Given the description of an element on the screen output the (x, y) to click on. 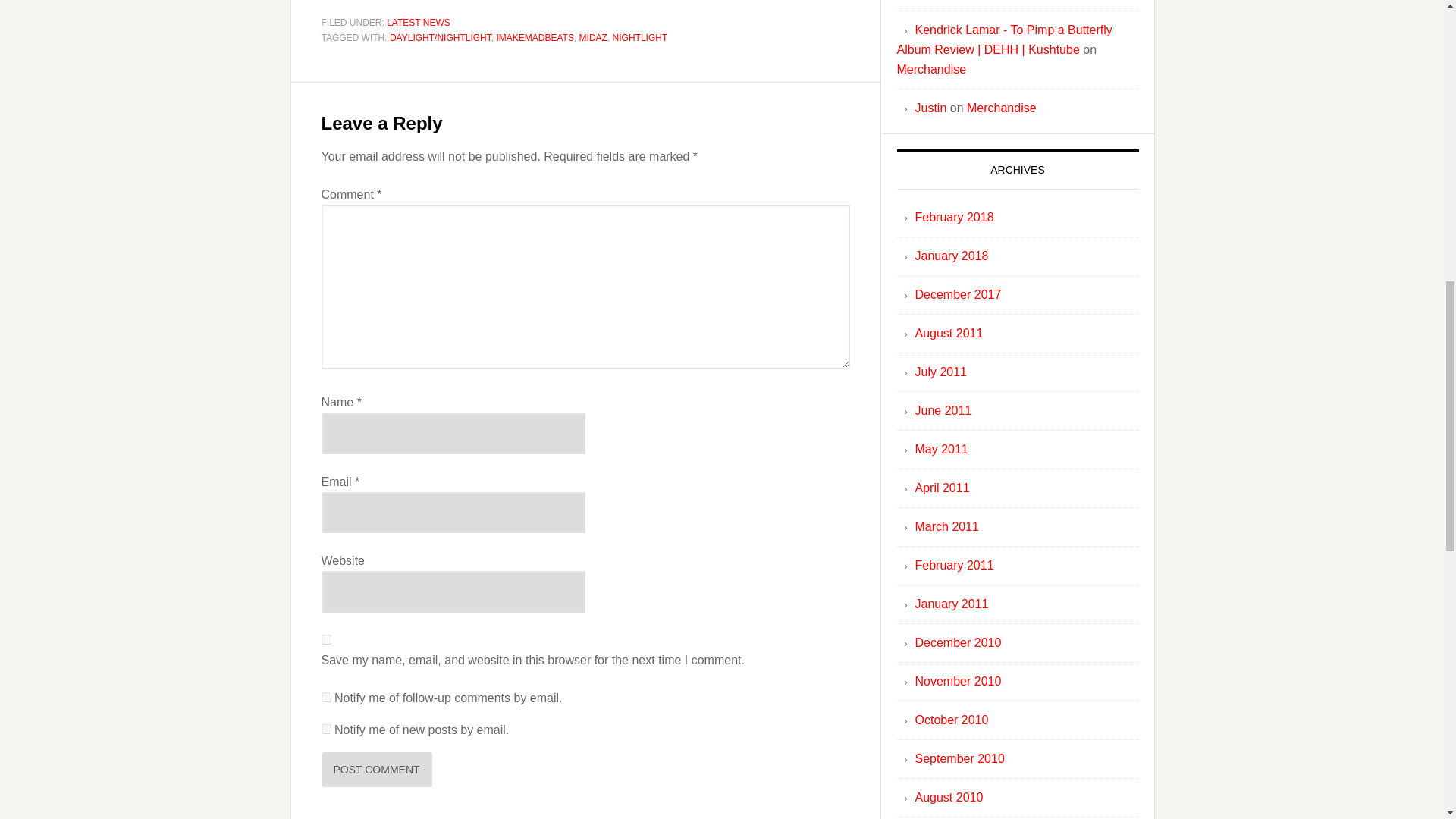
MIDAZ (593, 36)
LATEST NEWS (418, 22)
yes (326, 639)
Merchandise (931, 69)
subscribe (326, 728)
Post Comment (376, 769)
IMAKEMADBEATS (534, 36)
Justin (930, 107)
subscribe (326, 696)
NIGHTLIGHT (640, 36)
Post Comment (376, 769)
Merchandise (1001, 107)
